Given the description of an element on the screen output the (x, y) to click on. 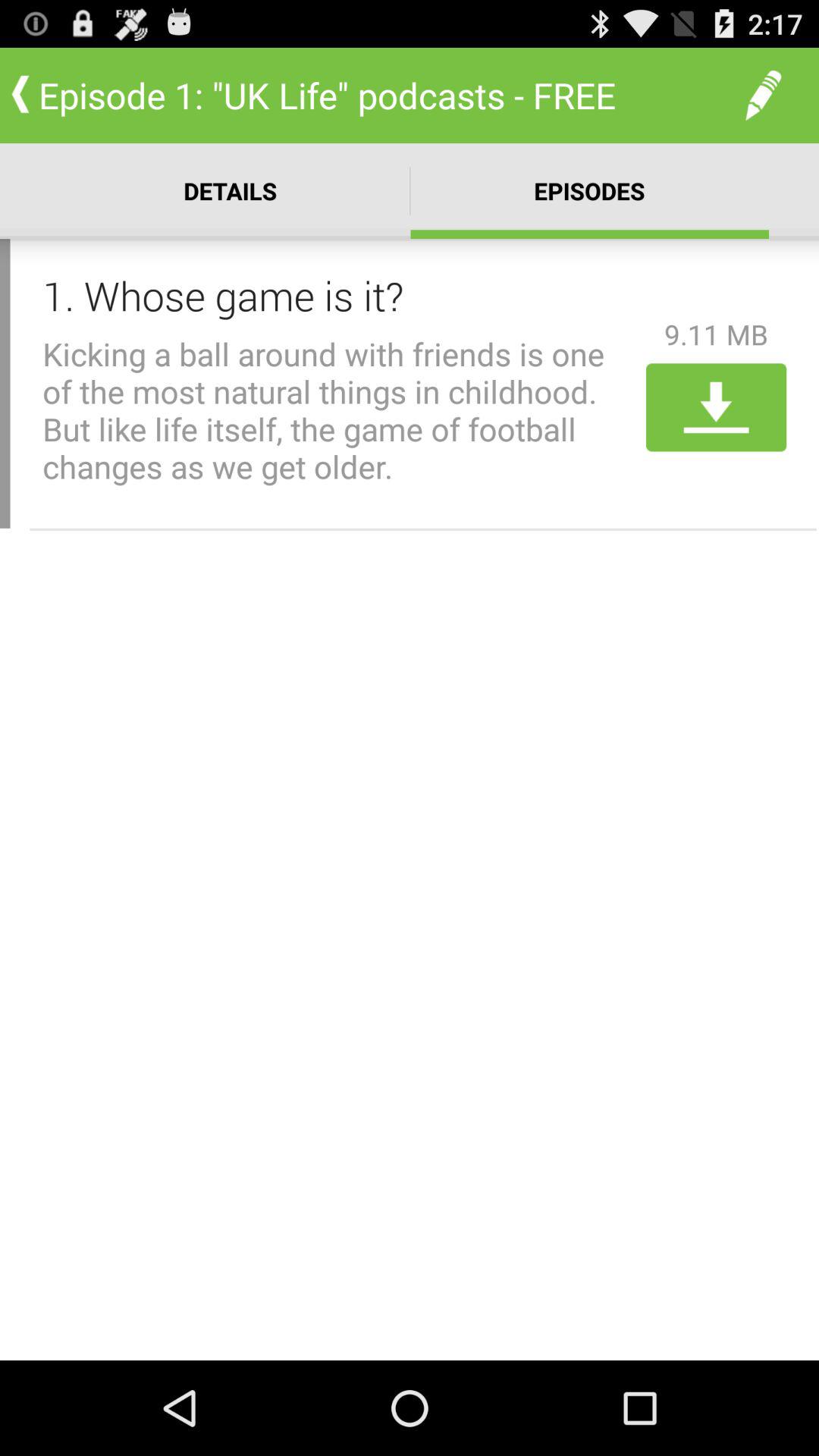
swipe to 1 whose game icon (338, 295)
